Given the description of an element on the screen output the (x, y) to click on. 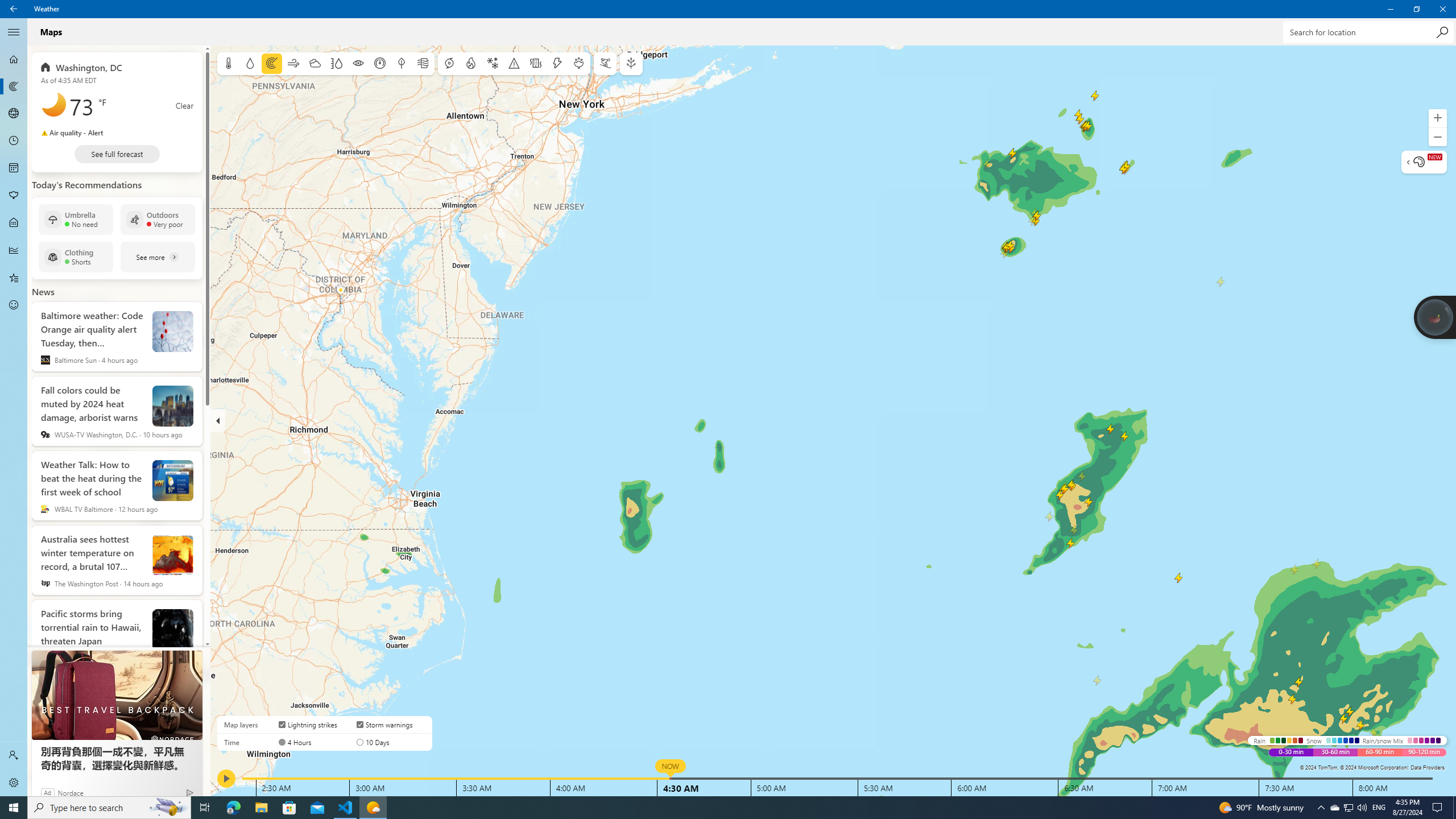
Forecast - Not Selected (13, 58)
Maps - Not Selected (13, 85)
Minimize Weather (1390, 9)
Favorites - Not Selected (13, 277)
3D Maps - Not Selected (13, 113)
Weather - 1 running window (373, 807)
Search for location (1367, 32)
Hourly Forecast - Not Selected (13, 140)
Pollen - Not Selected (13, 195)
